Given the description of an element on the screen output the (x, y) to click on. 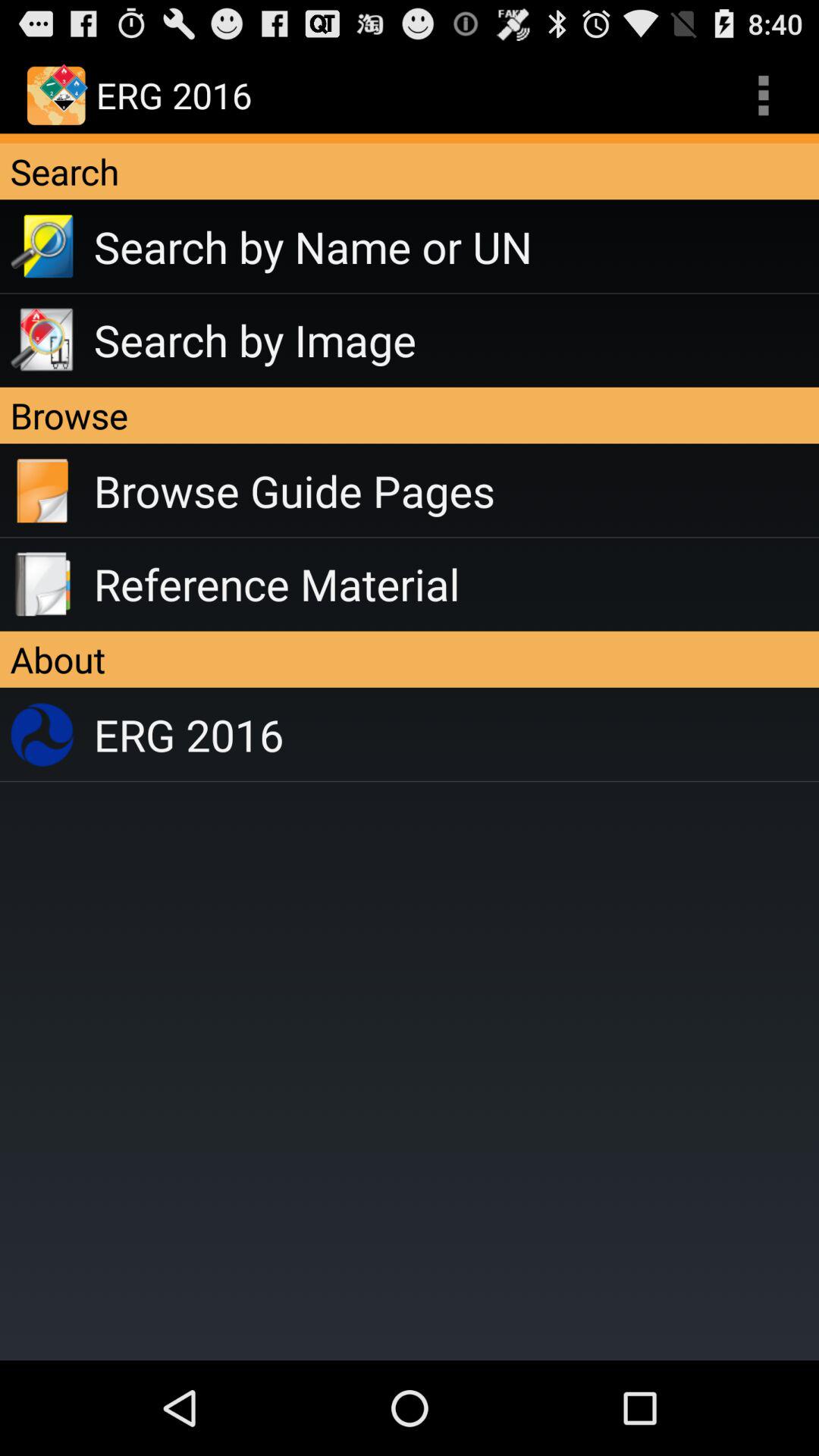
turn on browse guide pages app (456, 490)
